Given the description of an element on the screen output the (x, y) to click on. 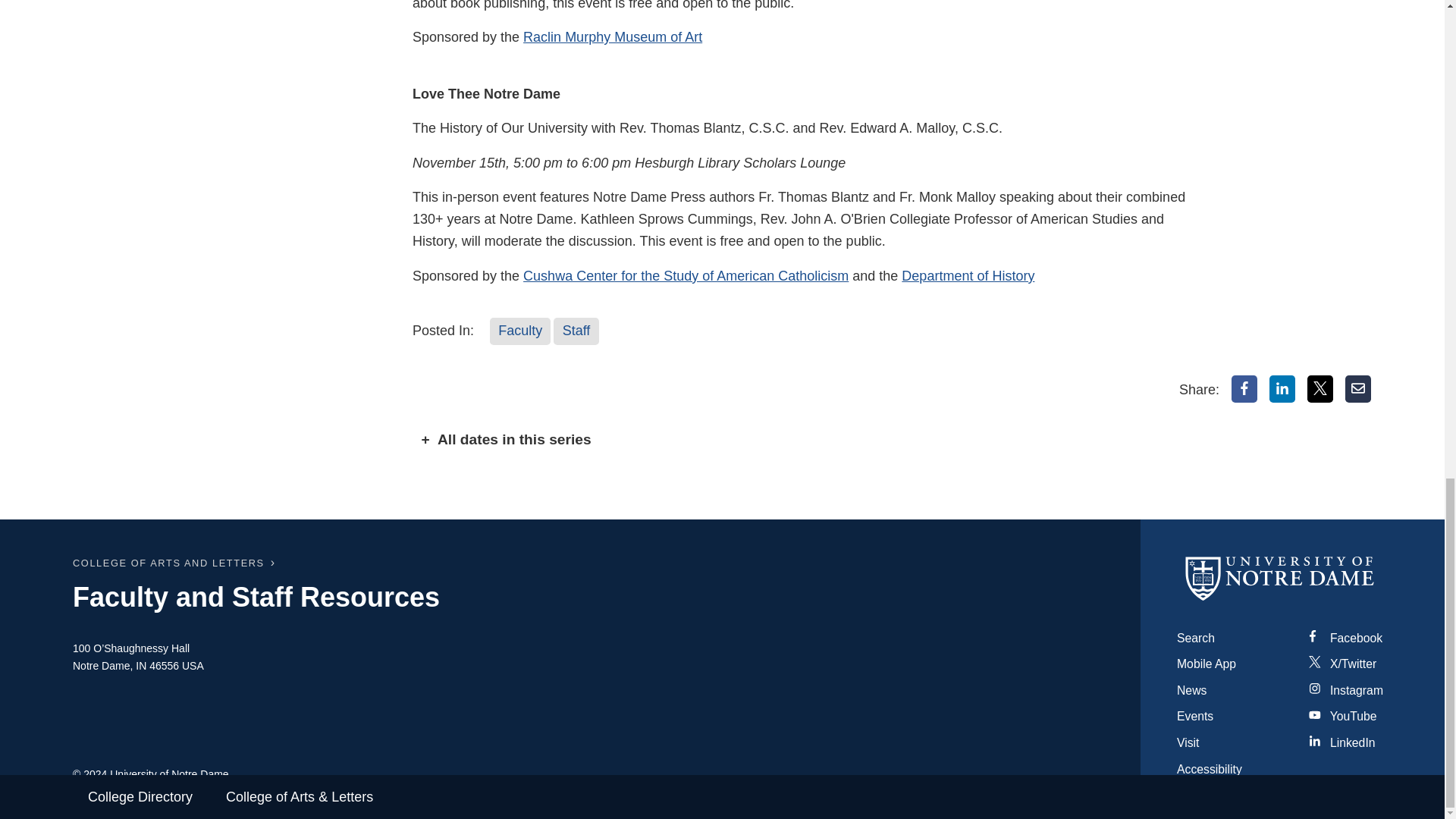
Facebook (1244, 388)
Email (1358, 388)
Cushwa Center for the Study of American Catholicism (685, 275)
LinkedIn (1282, 388)
Raclin Murphy Museum of Art (611, 37)
